Given the description of an element on the screen output the (x, y) to click on. 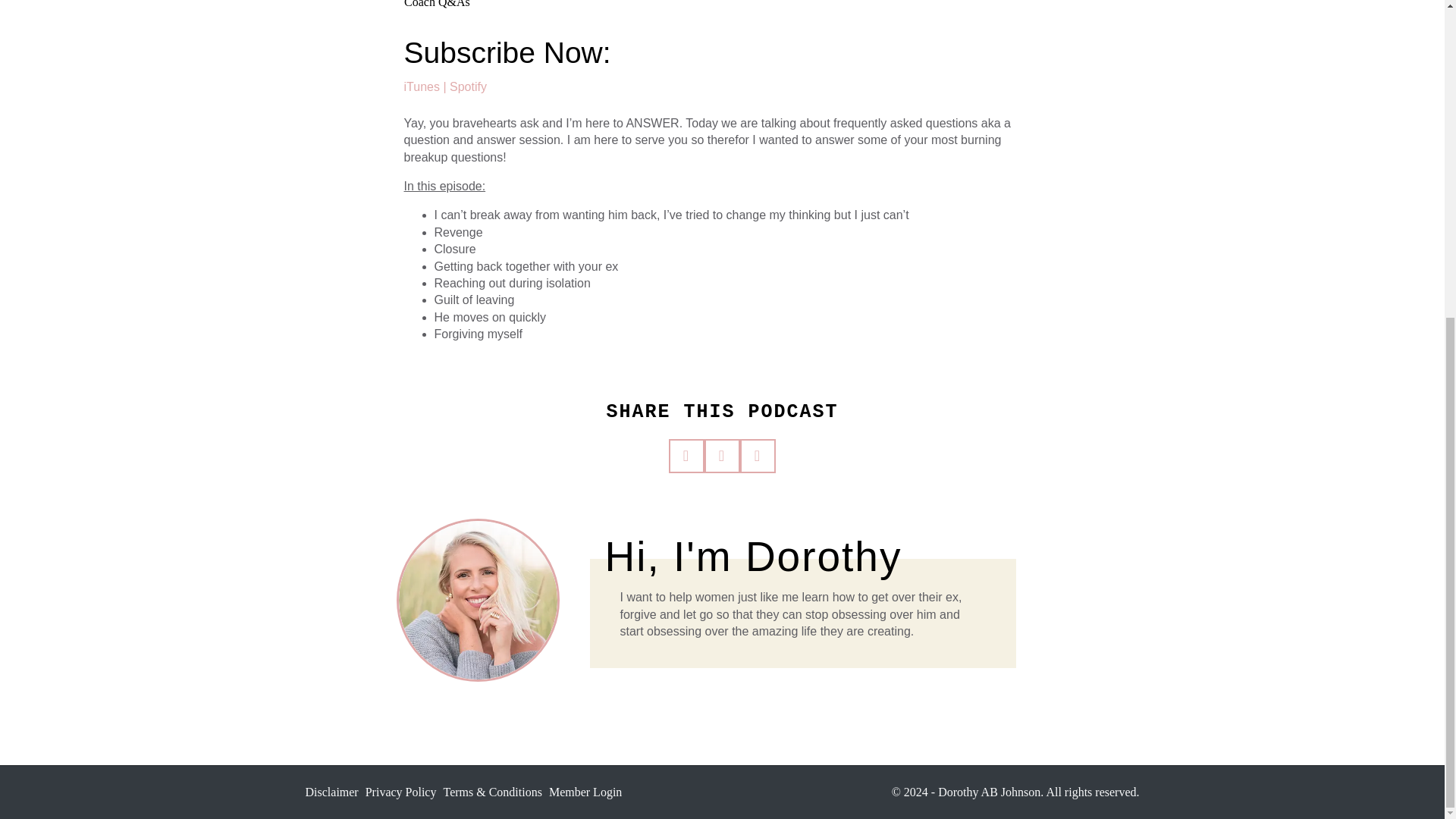
Privacy Policy (400, 791)
Member Login (584, 791)
Spotify (467, 86)
Disclaimer (331, 791)
